Given the description of an element on the screen output the (x, y) to click on. 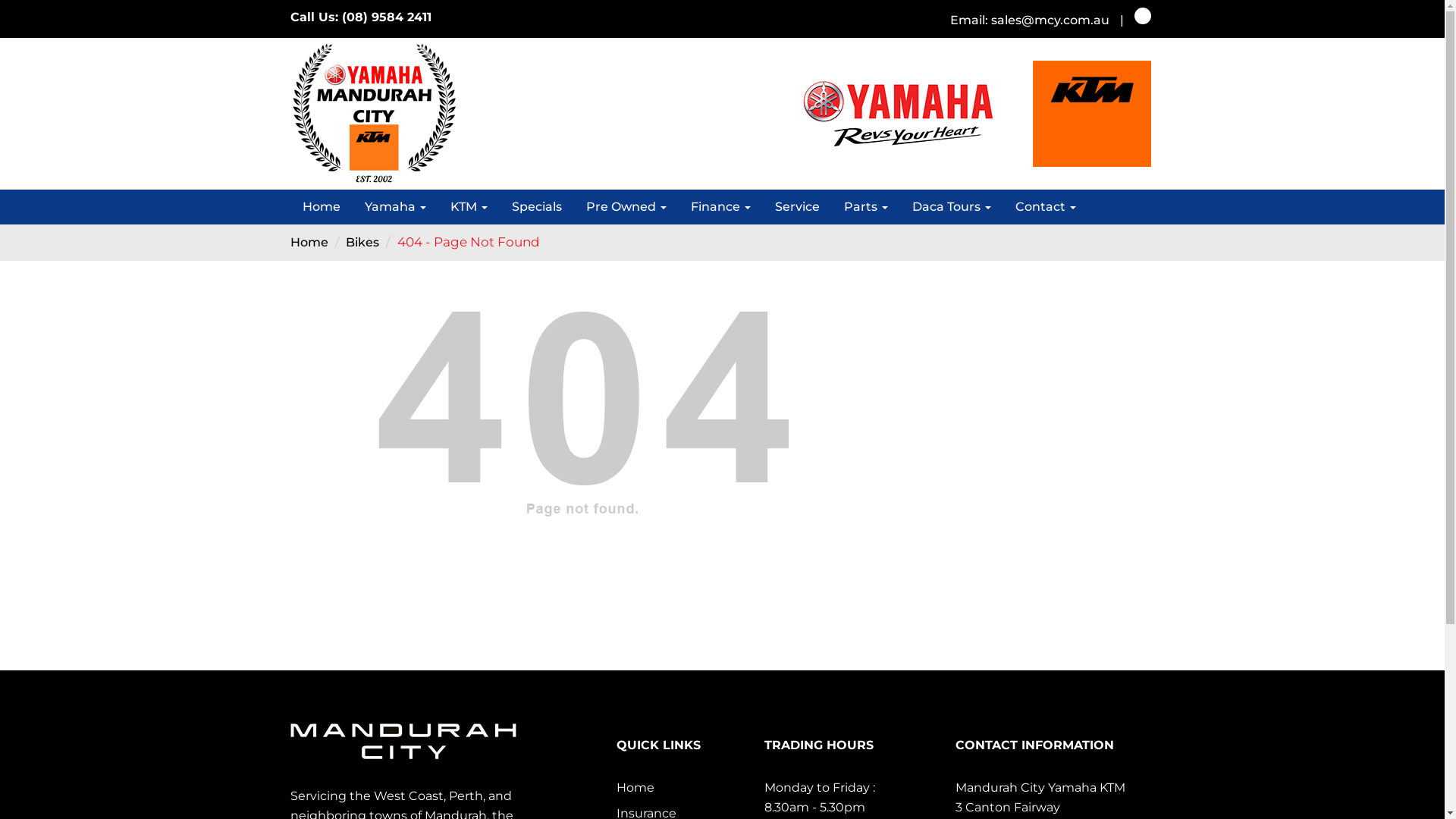
(08) 9584 2411 Element type: text (389, 16)
Pre Owned Element type: text (625, 206)
Mandurah City Facebook Element type: hover (1142, 15)
Yamaha Element type: text (394, 206)
KTM Element type: text (468, 206)
Mandurah City Element type: hover (402, 741)
Home Element type: text (634, 787)
sales@mcy.com.au Element type: text (1054, 19)
Finance Element type: text (719, 206)
Bikes Element type: text (362, 242)
Daca Tours Element type: text (950, 206)
Specials Element type: text (535, 206)
Parts Element type: text (865, 206)
Mandurah City Element type: hover (373, 113)
Home Element type: text (320, 206)
Service Element type: text (796, 206)
Home Element type: text (308, 242)
Contact Element type: text (1044, 206)
